Given the description of an element on the screen output the (x, y) to click on. 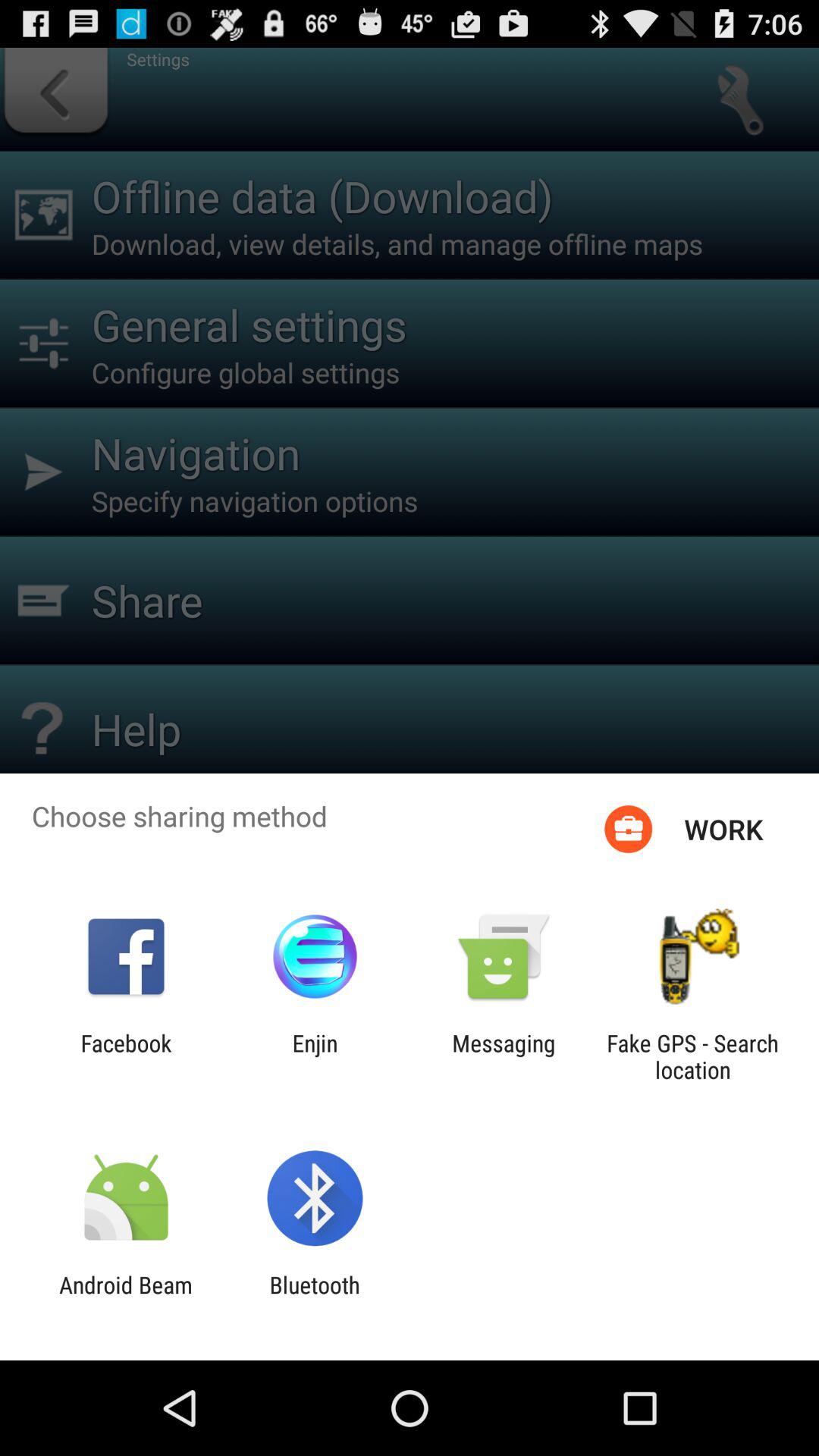
turn on app next to the bluetooth item (125, 1298)
